Given the description of an element on the screen output the (x, y) to click on. 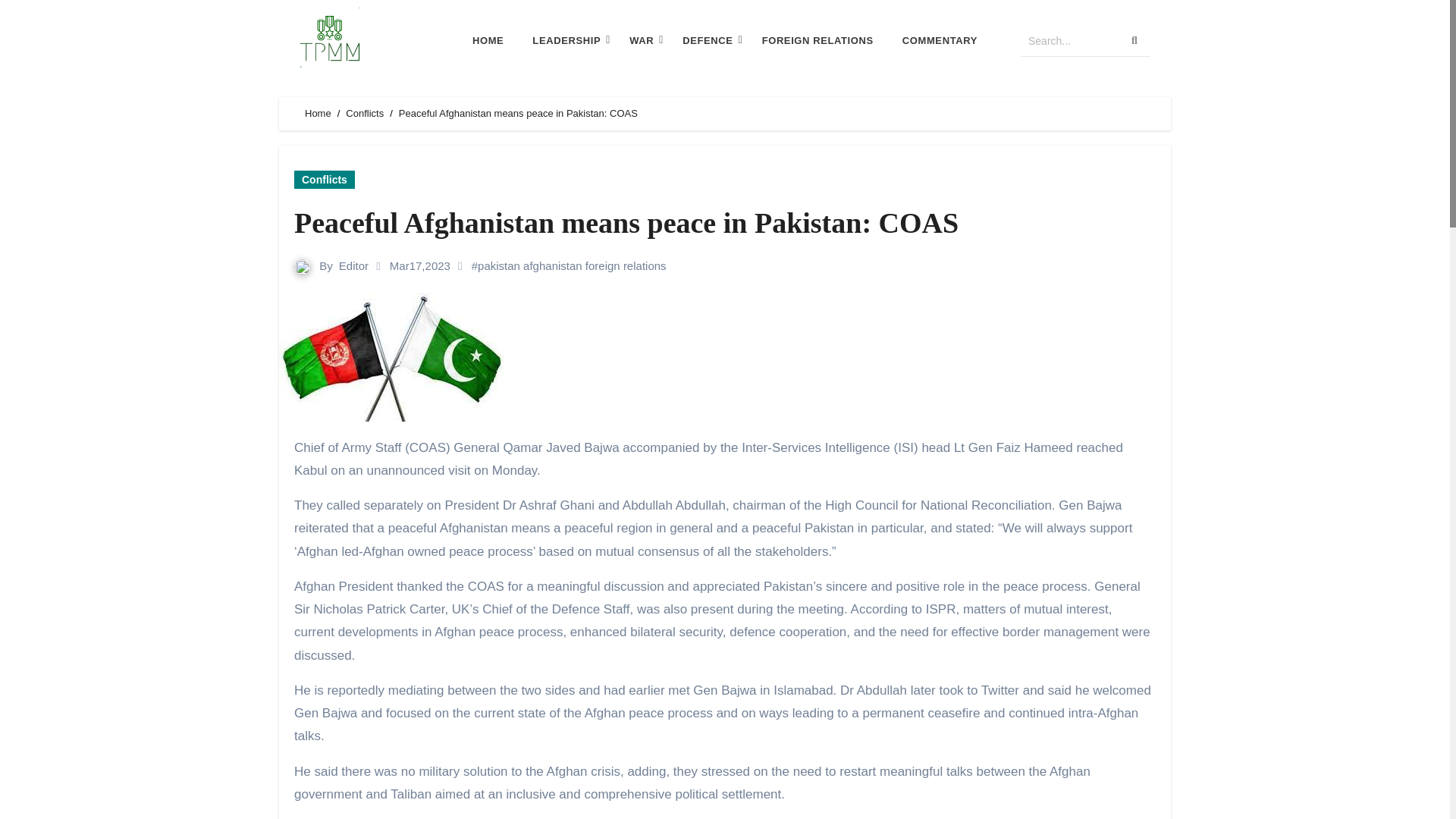
WAR (642, 41)
FOREIGN RELATIONS (817, 41)
Home (317, 112)
Search (1069, 40)
DEFENCE (707, 41)
COMMENTARY (939, 41)
LEADERSHIP (566, 41)
HOME (488, 41)
